Given the description of an element on the screen output the (x, y) to click on. 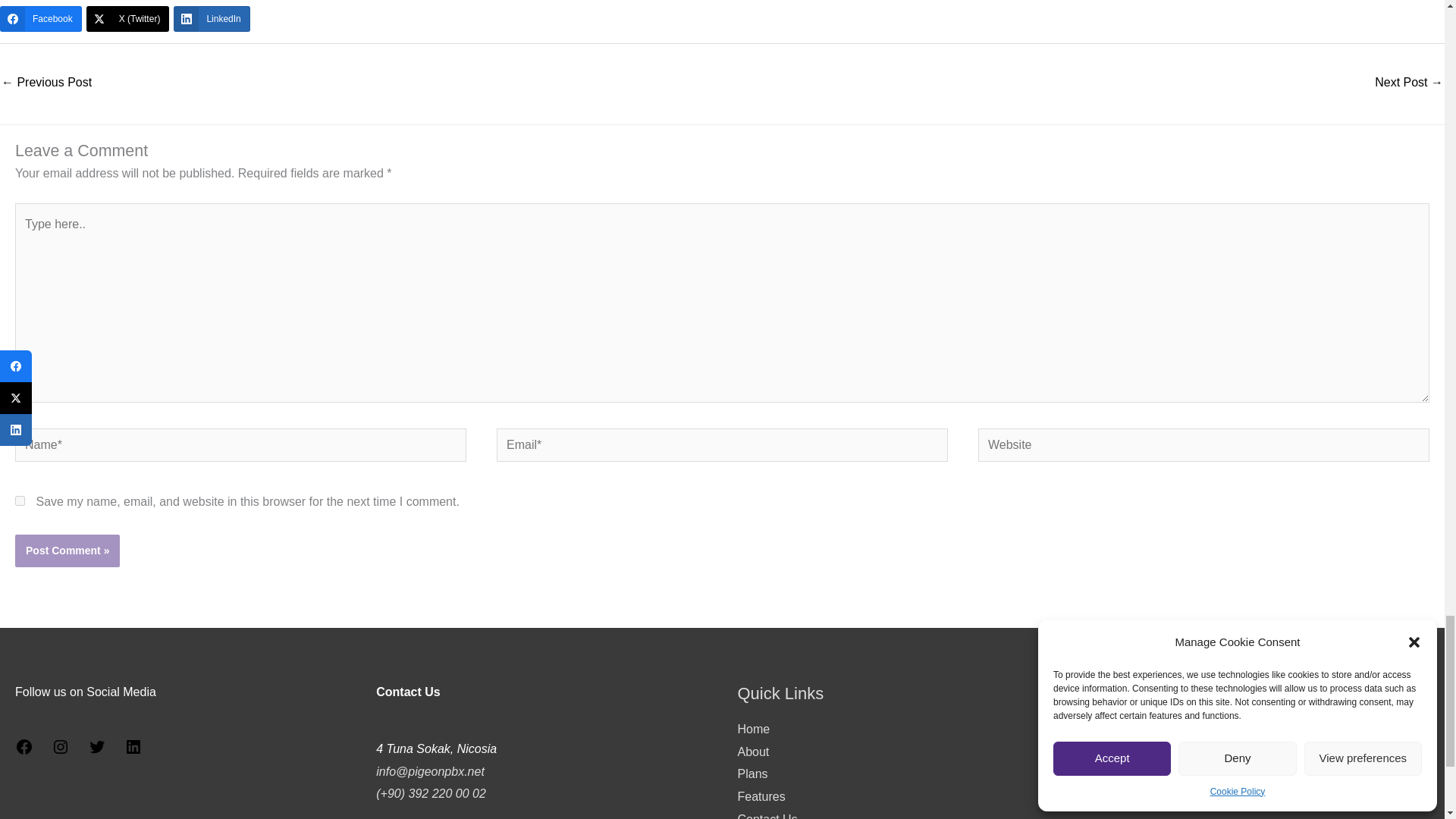
yes (19, 501)
